Given the description of an element on the screen output the (x, y) to click on. 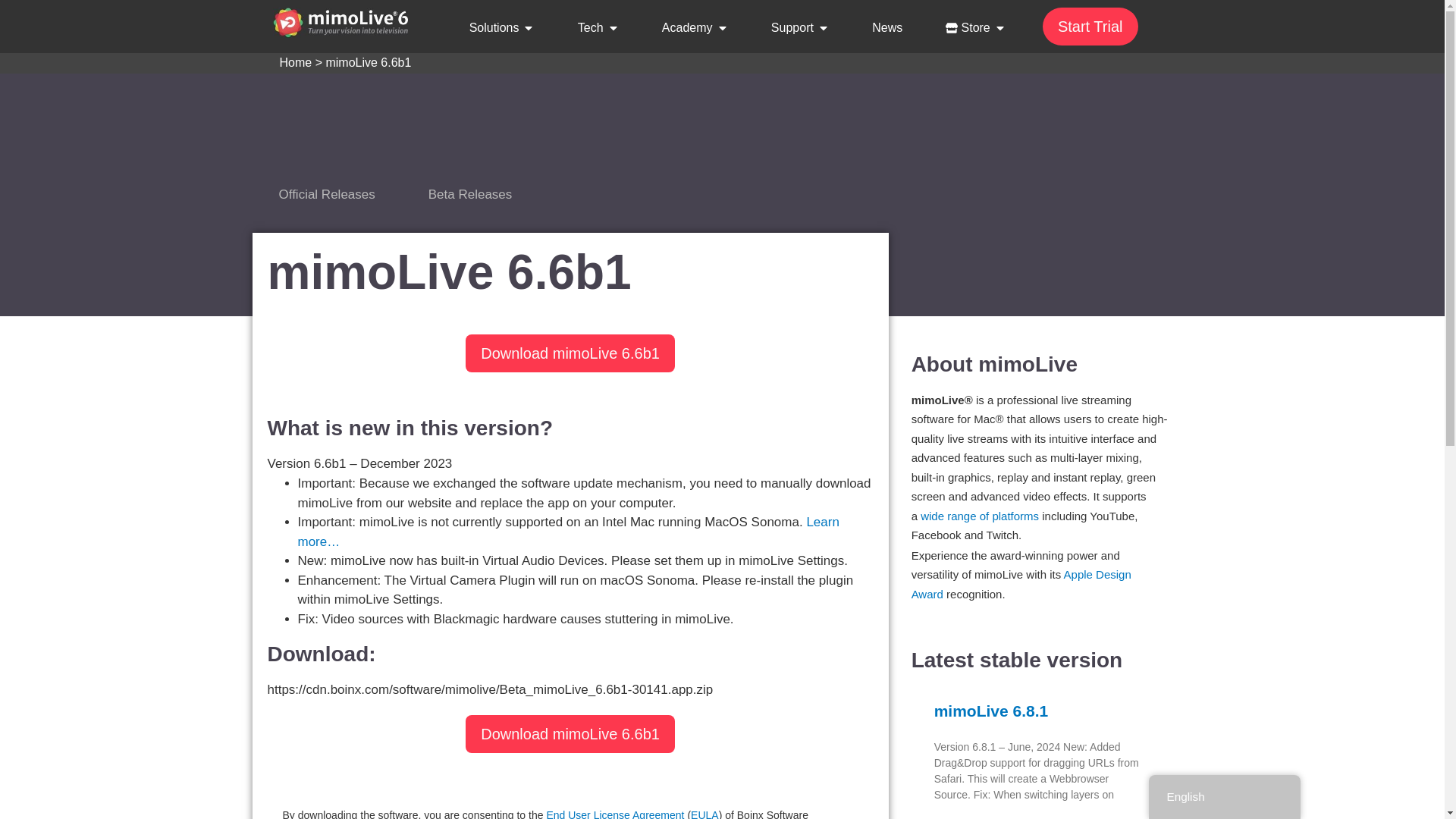
Apple Design Awards (1021, 584)
News (887, 27)
Start Trial (1090, 26)
